Given the description of an element on the screen output the (x, y) to click on. 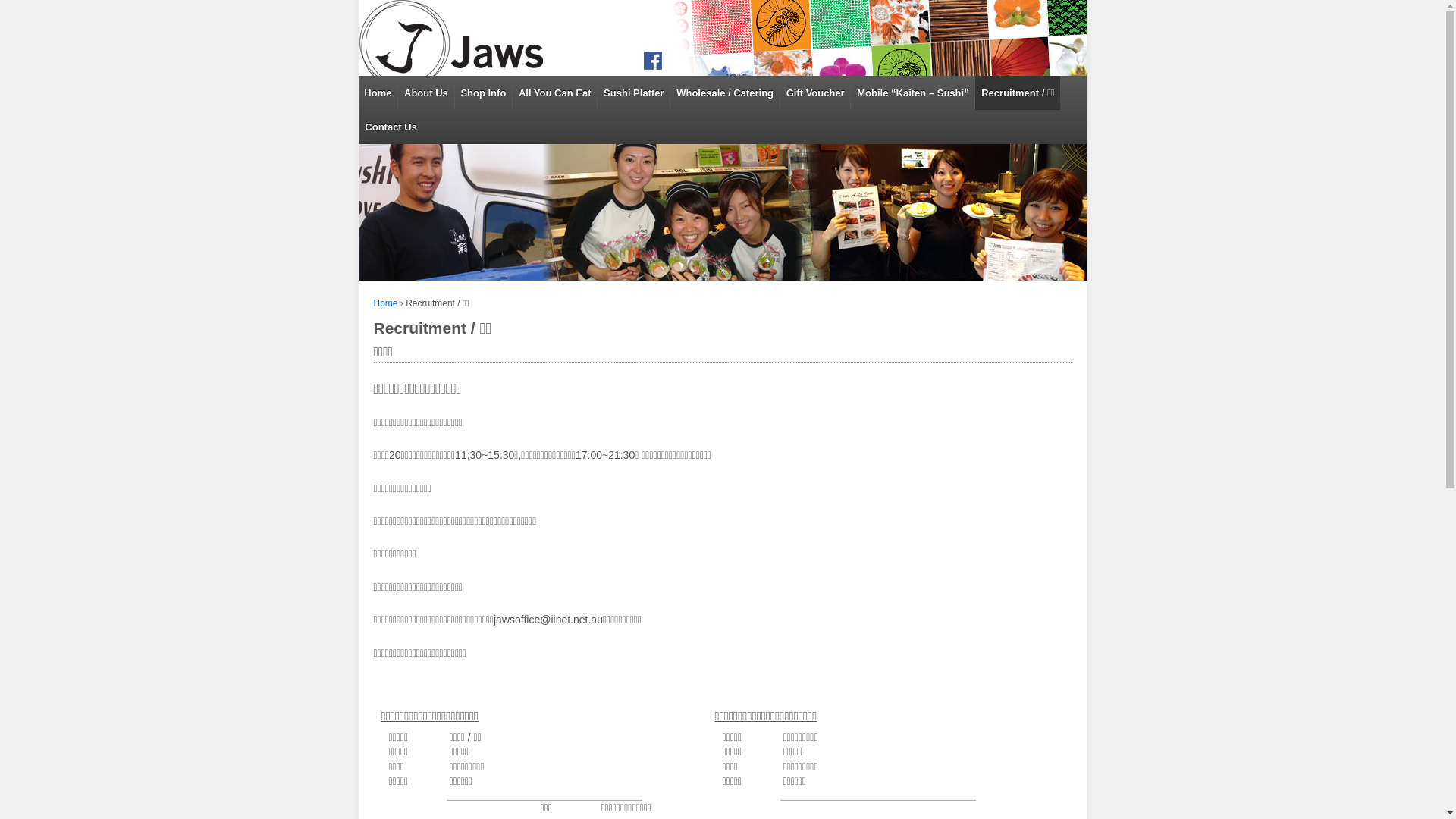
Contact Us Element type: text (389, 126)
Wholesale / Catering Element type: text (723, 92)
Sushi Platter Element type: text (632, 92)
Home Element type: text (377, 92)
Gift Voucher Element type: text (814, 92)
Home Element type: text (385, 303)
About Us Element type: text (425, 92)
All You Can Eat Element type: text (553, 92)
Shop Info Element type: text (483, 92)
